Given the description of an element on the screen output the (x, y) to click on. 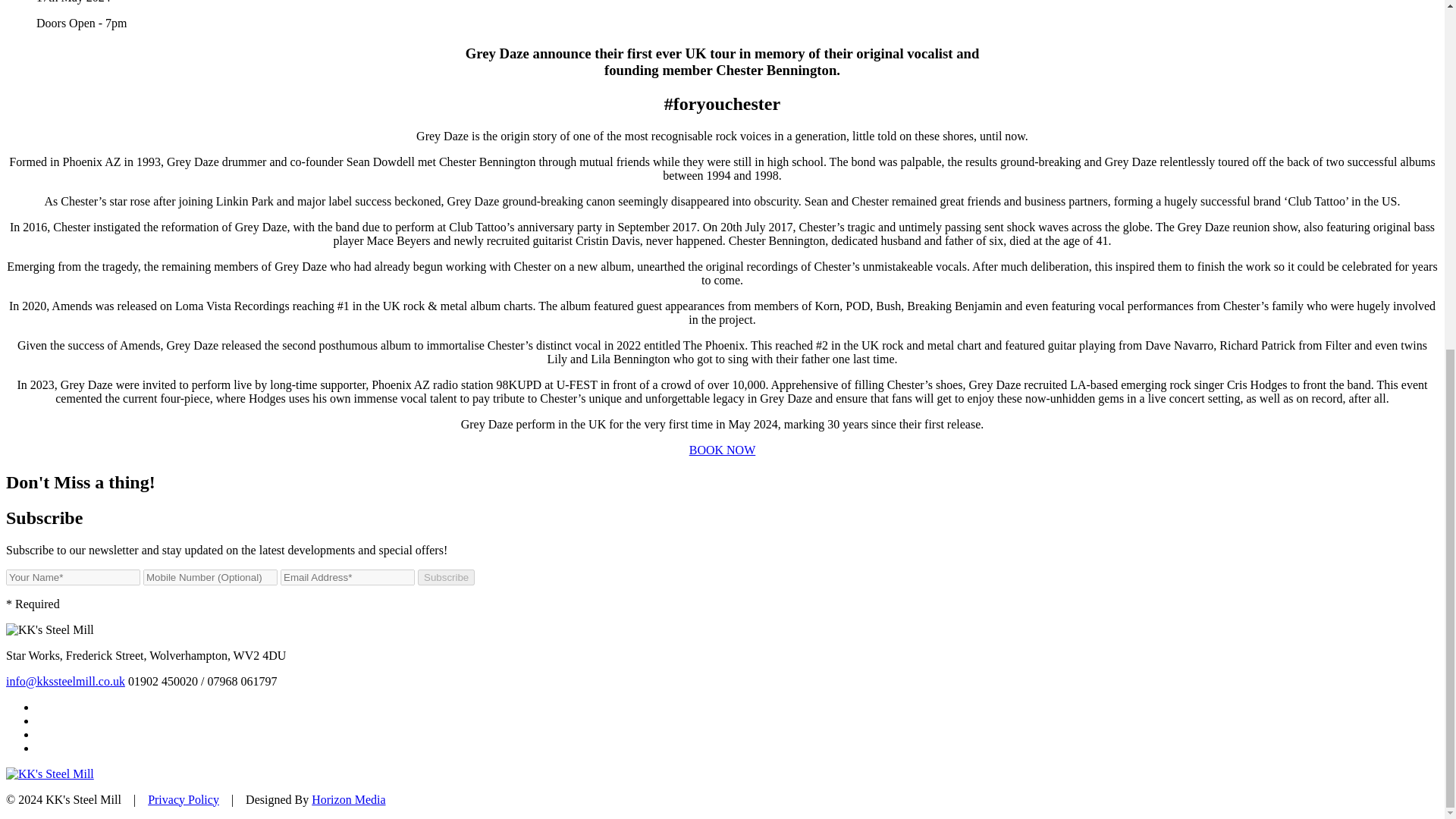
Horizon Media (348, 798)
Privacy Policy (183, 798)
Subscribe (445, 577)
BOOK NOW (721, 449)
Subscribe (445, 577)
